Given the description of an element on the screen output the (x, y) to click on. 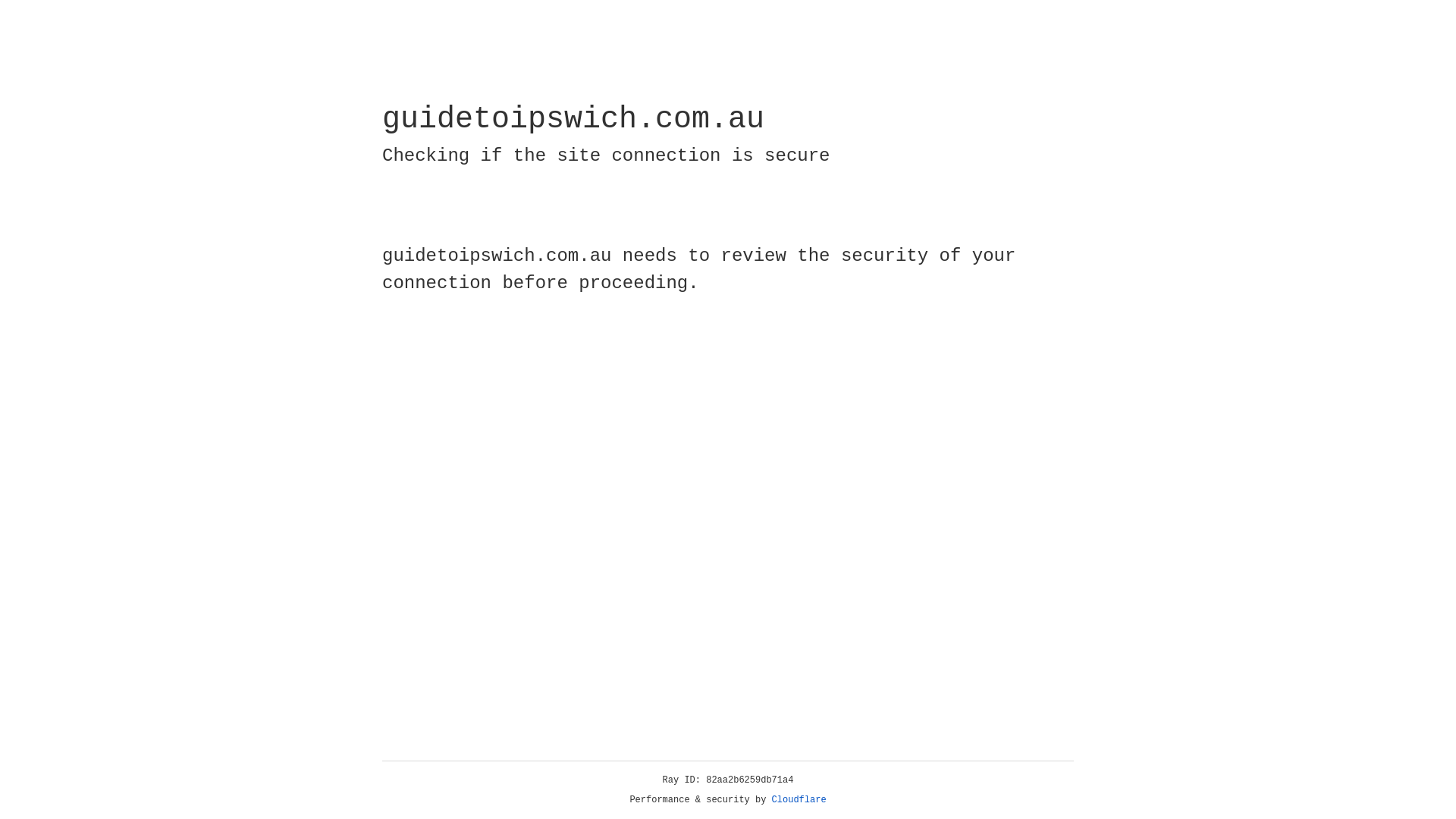
Cloudflare Element type: text (798, 799)
